Given the description of an element on the screen output the (x, y) to click on. 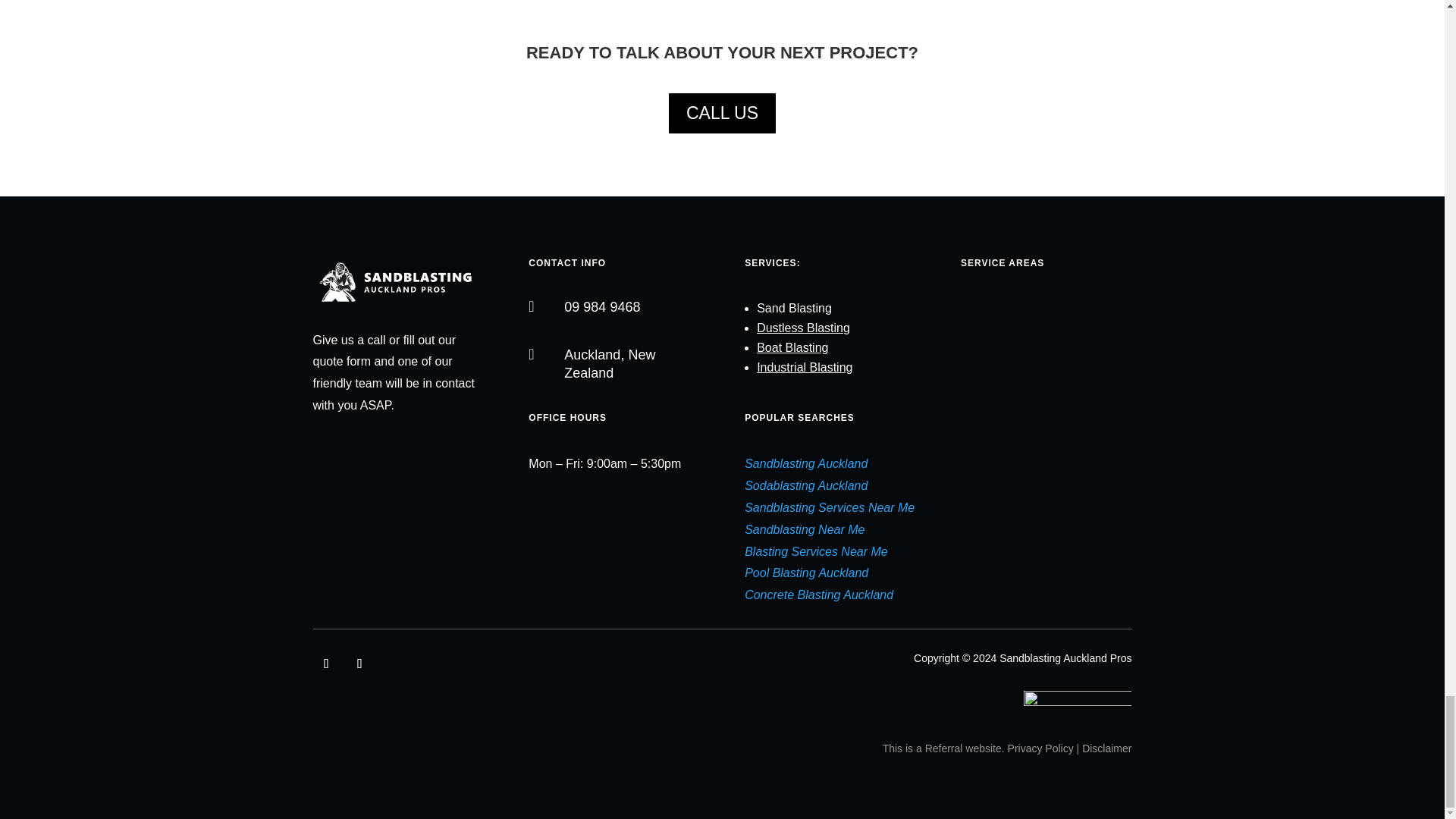
1-AKL-Sand-Blasting-Pros-Logo-white (398, 282)
Follow on Youtube (359, 663)
logo3 (1077, 704)
Follow on Facebook (326, 663)
